Given the description of an element on the screen output the (x, y) to click on. 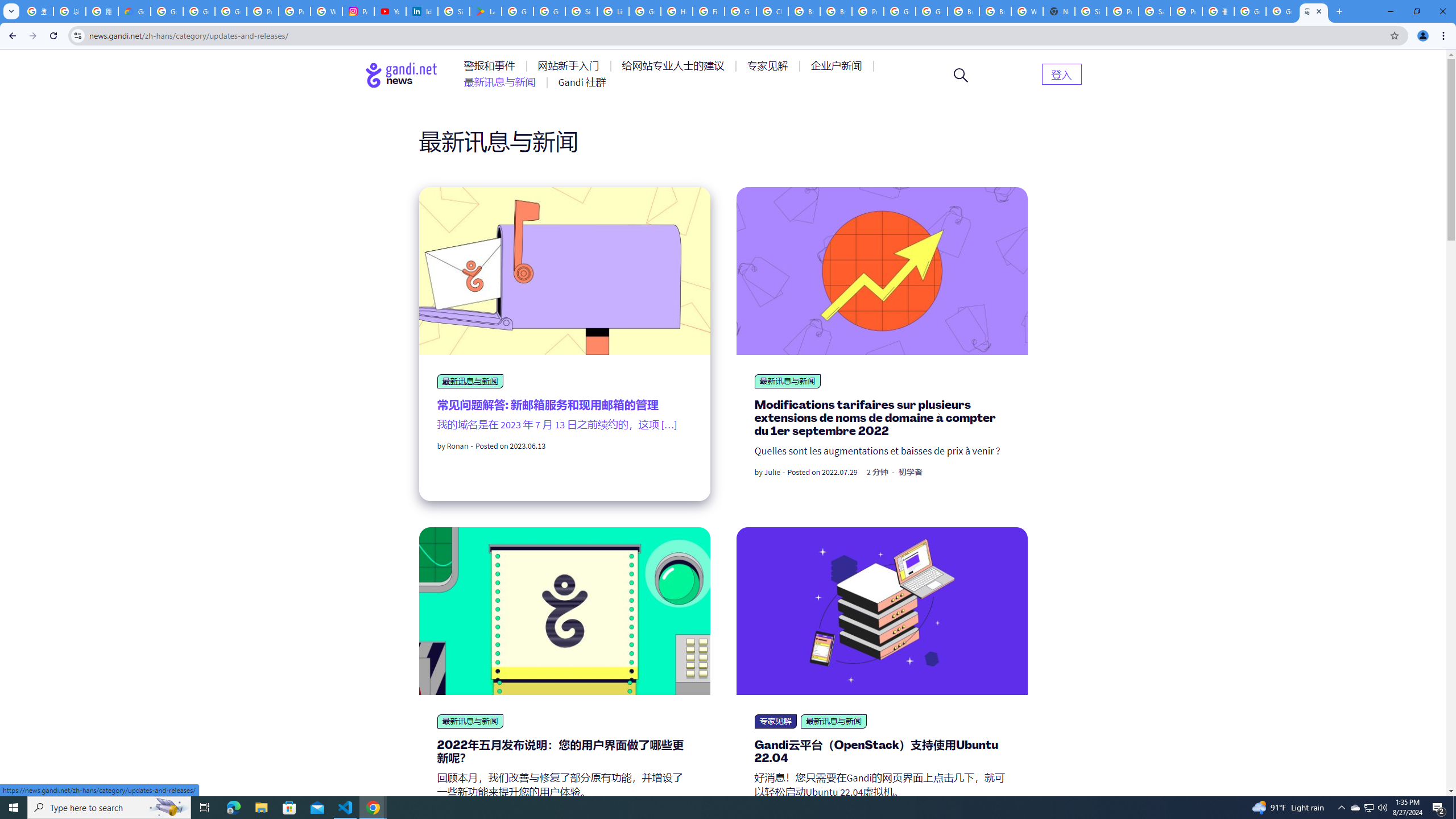
Sign in - Google Accounts (453, 11)
Last Shelter: Survival - Apps on Google Play (485, 11)
AutomationID: menu-item-77762 (570, 65)
AutomationID: menu-item-82399 (1061, 73)
